Given the description of an element on the screen output the (x, y) to click on. 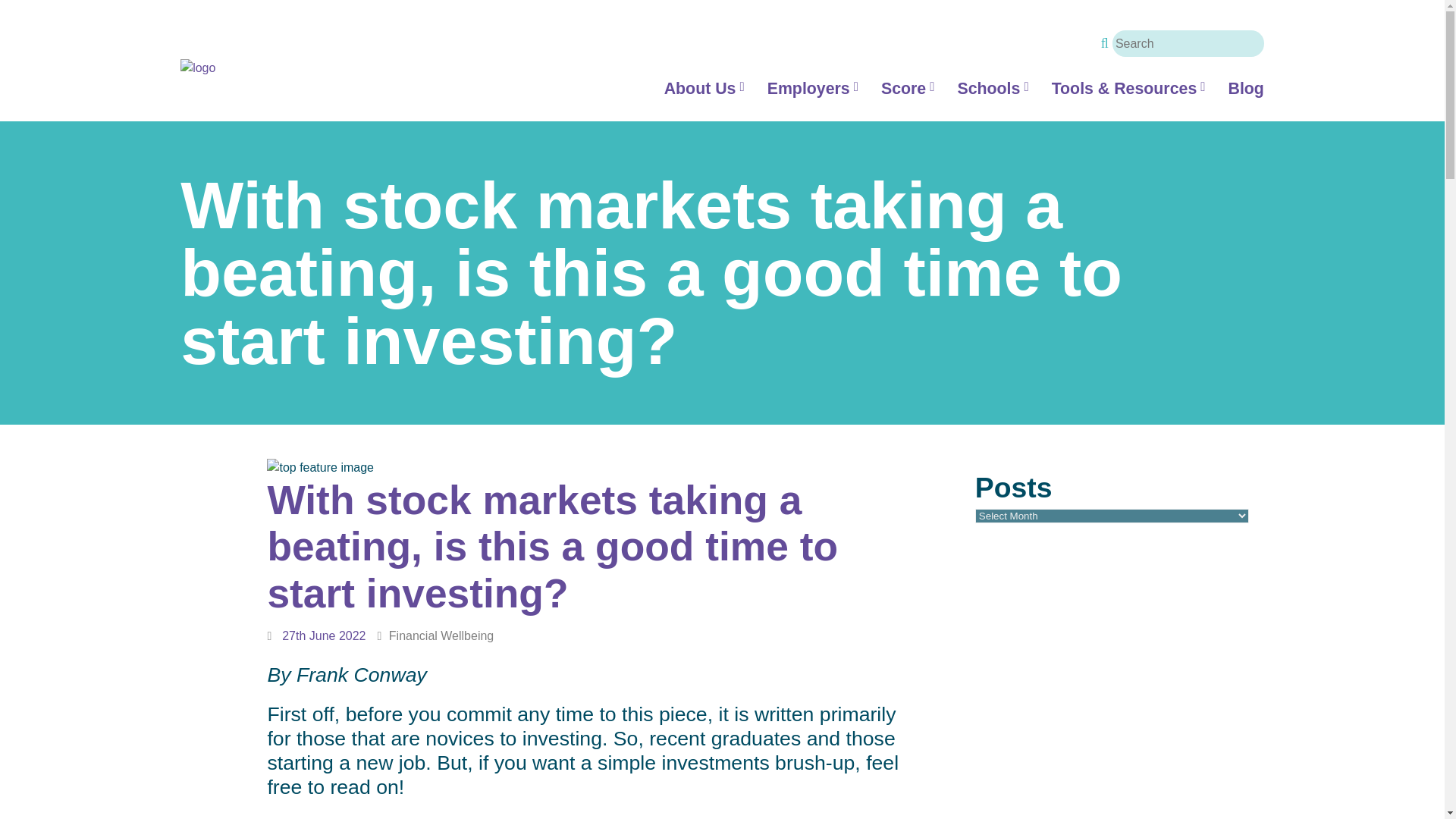
Employee assistance programme for Ireland  (813, 88)
About Us (703, 88)
Financial Wellbeing (440, 635)
Schools (991, 88)
Financial insights that inform (1245, 88)
Search for: (1187, 43)
Financial wellbeing score Ireland (907, 88)
Blog (1245, 88)
Financial education  (991, 88)
Score (907, 88)
Employers (813, 88)
27th June 2022 (323, 635)
